Given the description of an element on the screen output the (x, y) to click on. 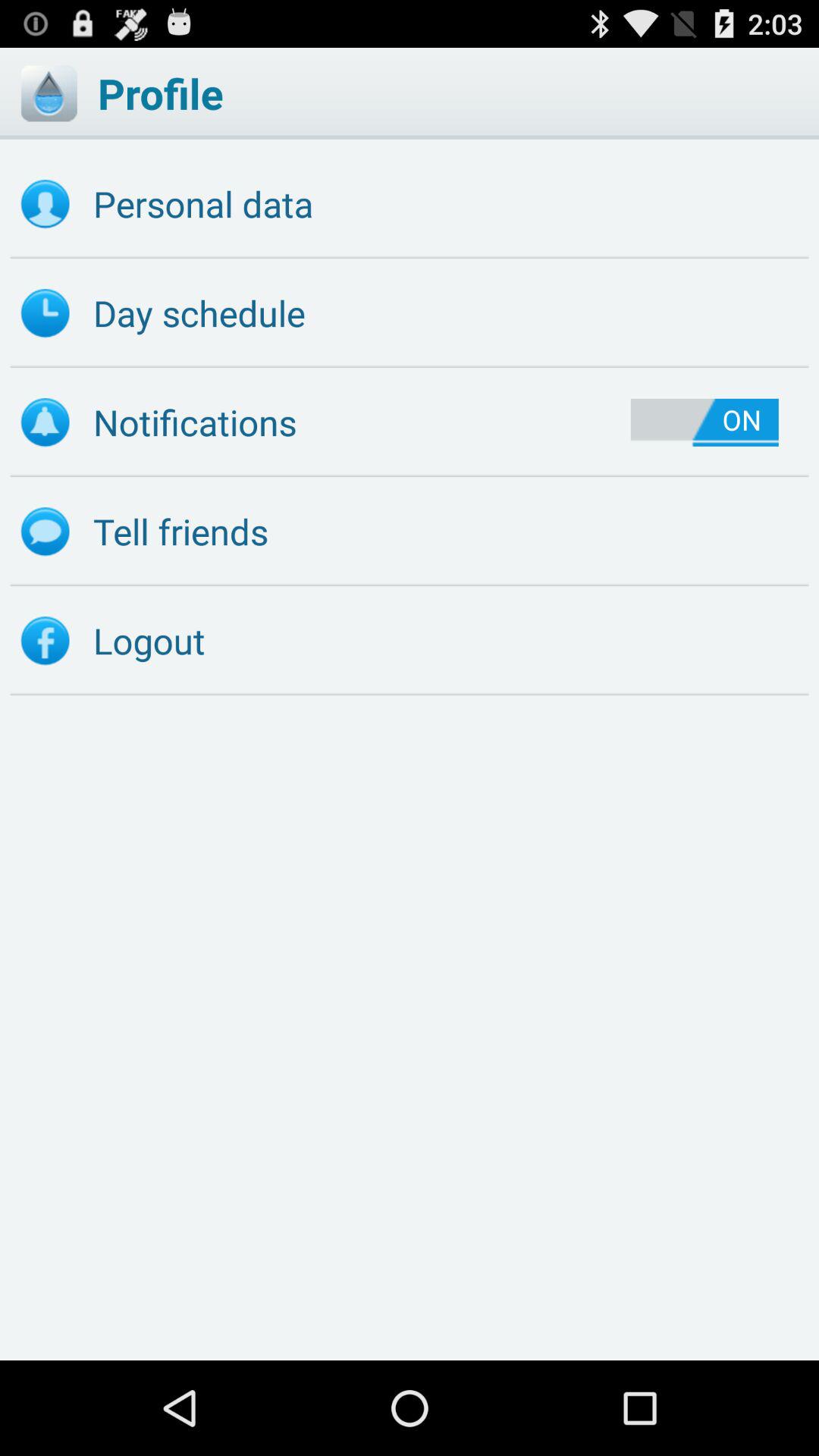
turn on the on item (704, 422)
